Given the description of an element on the screen output the (x, y) to click on. 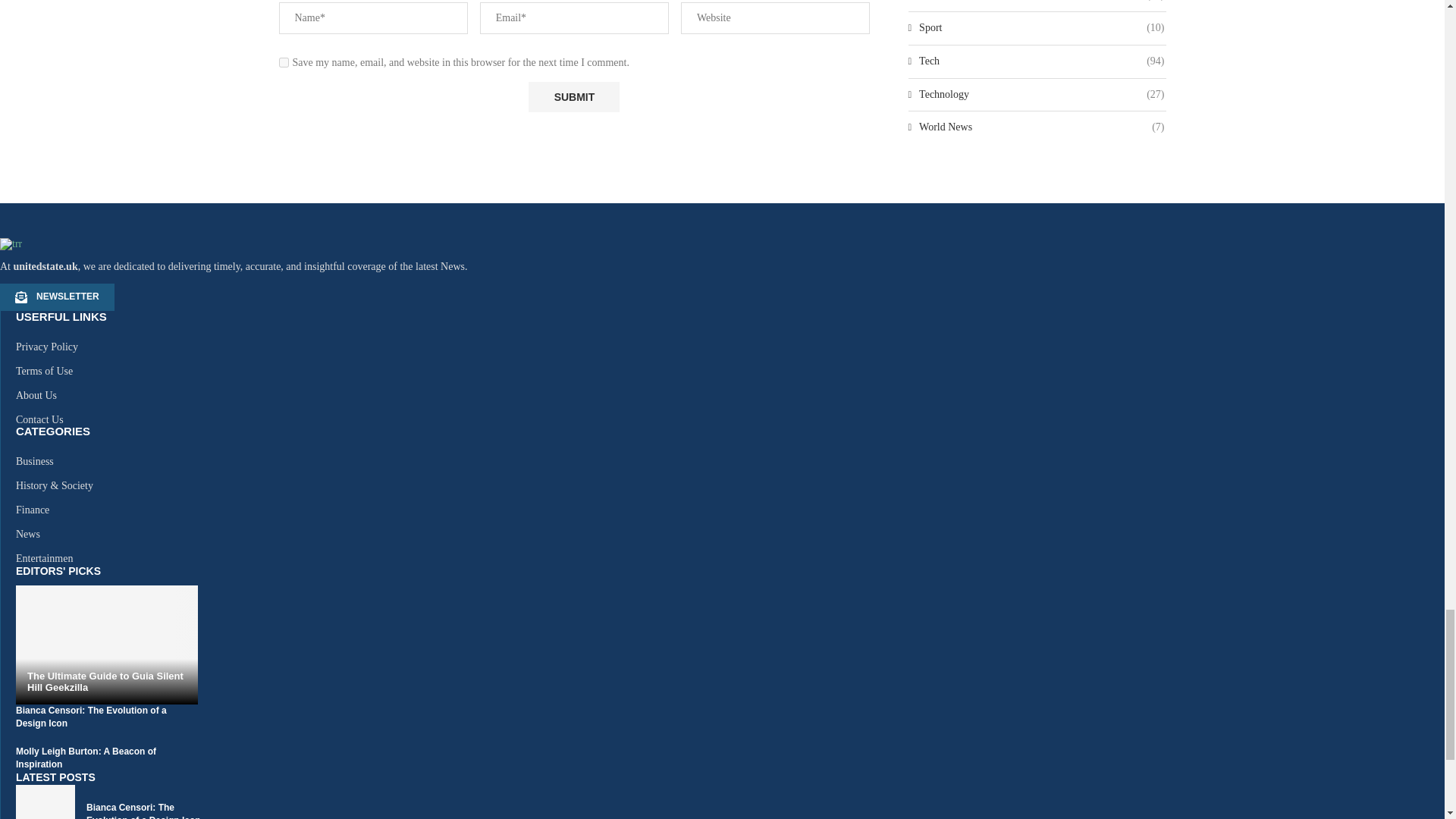
trr (10, 244)
The Ultimate Guide to Guia Silent Hill Geekzilla (107, 644)
yes (283, 62)
The Ultimate Guide to Guia Silent Hill Geekzilla (107, 681)
Submit (574, 96)
